Given the description of an element on the screen output the (x, y) to click on. 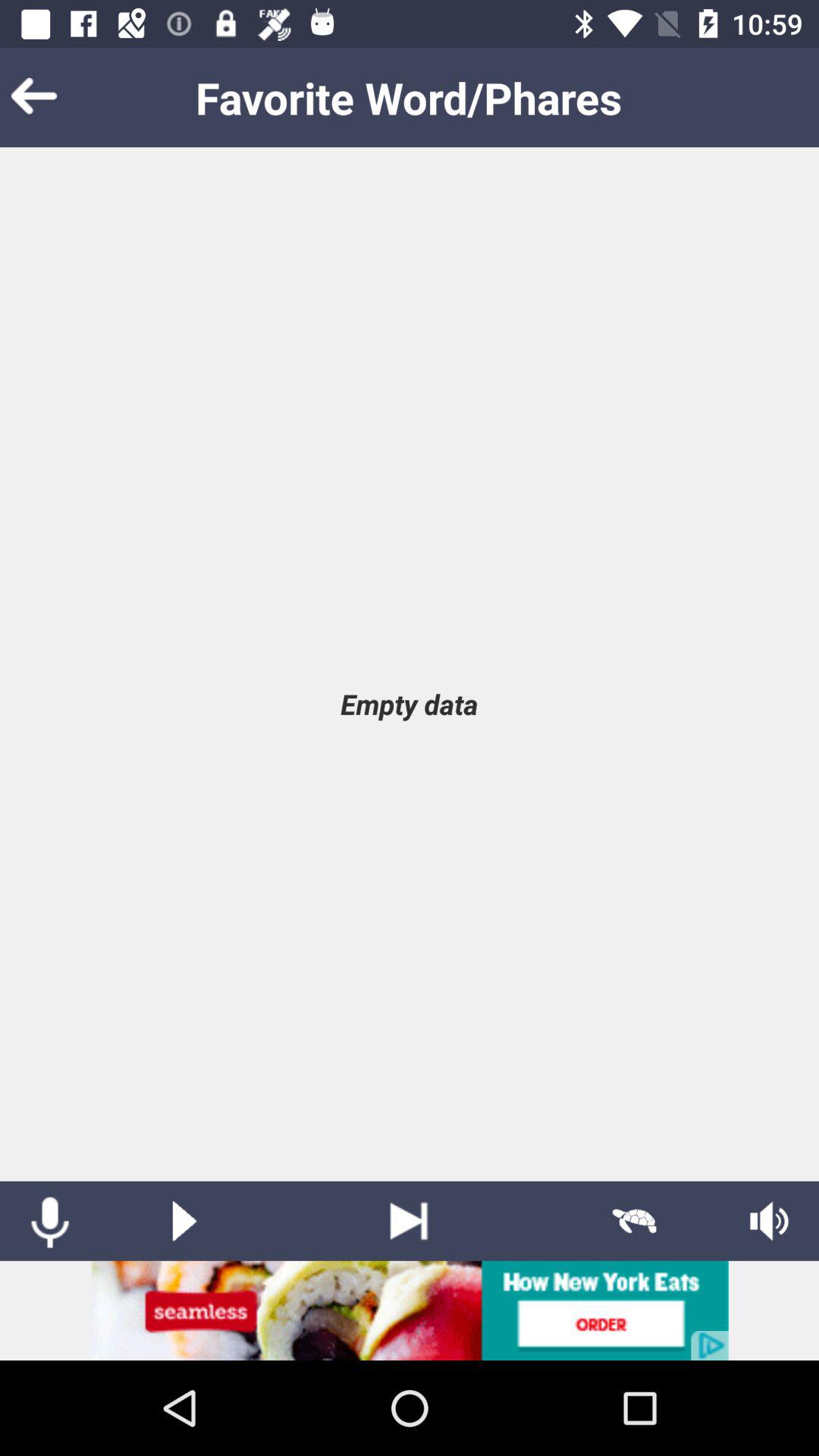
voice button (49, 1220)
